Given the description of an element on the screen output the (x, y) to click on. 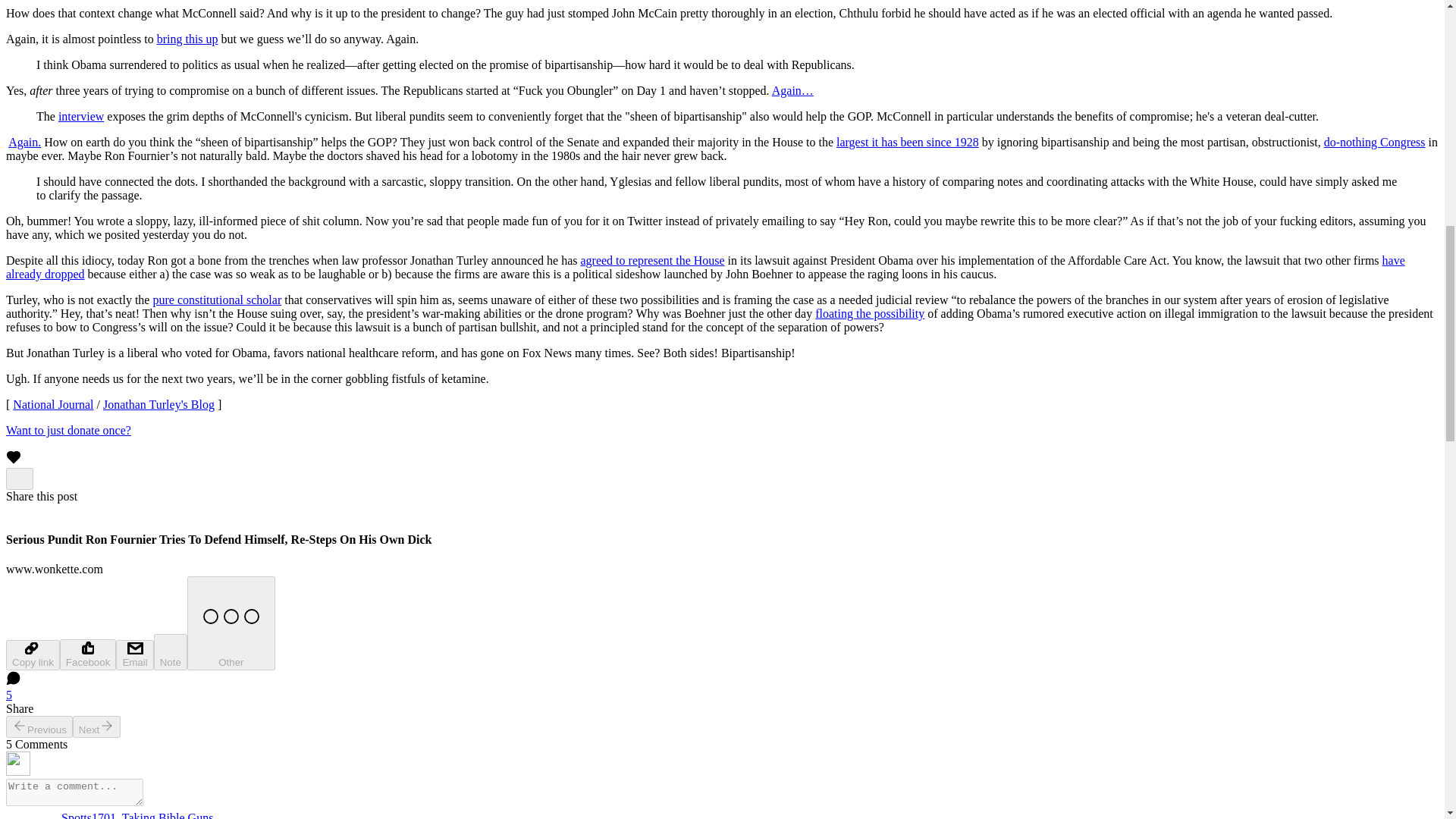
do-nothing Congress (1374, 141)
have already dropped (705, 266)
interview (80, 115)
agreed to represent the House (651, 259)
bring this up (187, 38)
largest it has been since 1928 (906, 141)
floating the possibility (869, 313)
Again. (24, 141)
pure constitutional scholar (216, 299)
National Journal (53, 404)
Want to just donate once? (68, 430)
Jonathan Turley's Blog (158, 404)
